Given the description of an element on the screen output the (x, y) to click on. 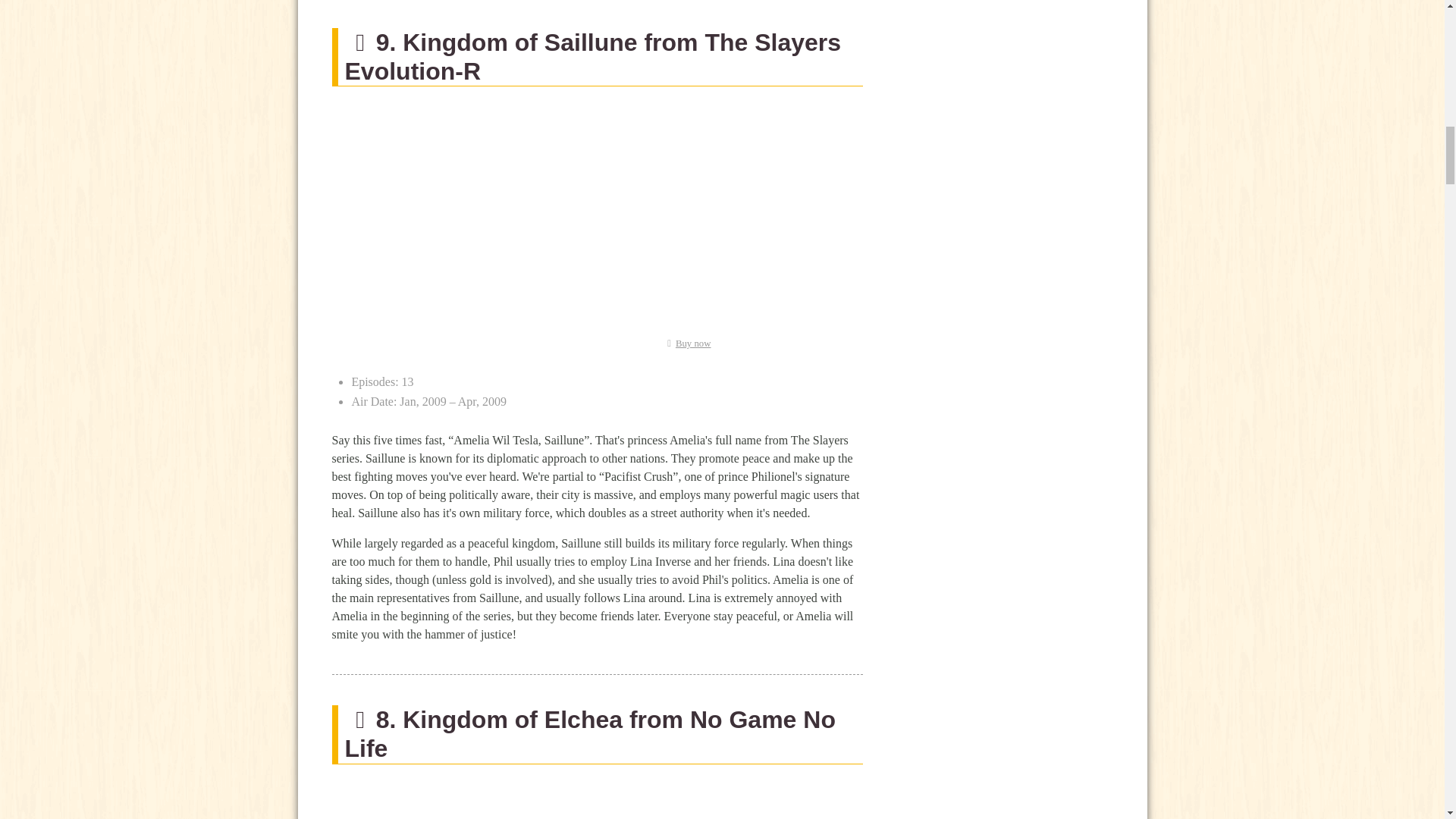
Buy now (686, 343)
